Given the description of an element on the screen output the (x, y) to click on. 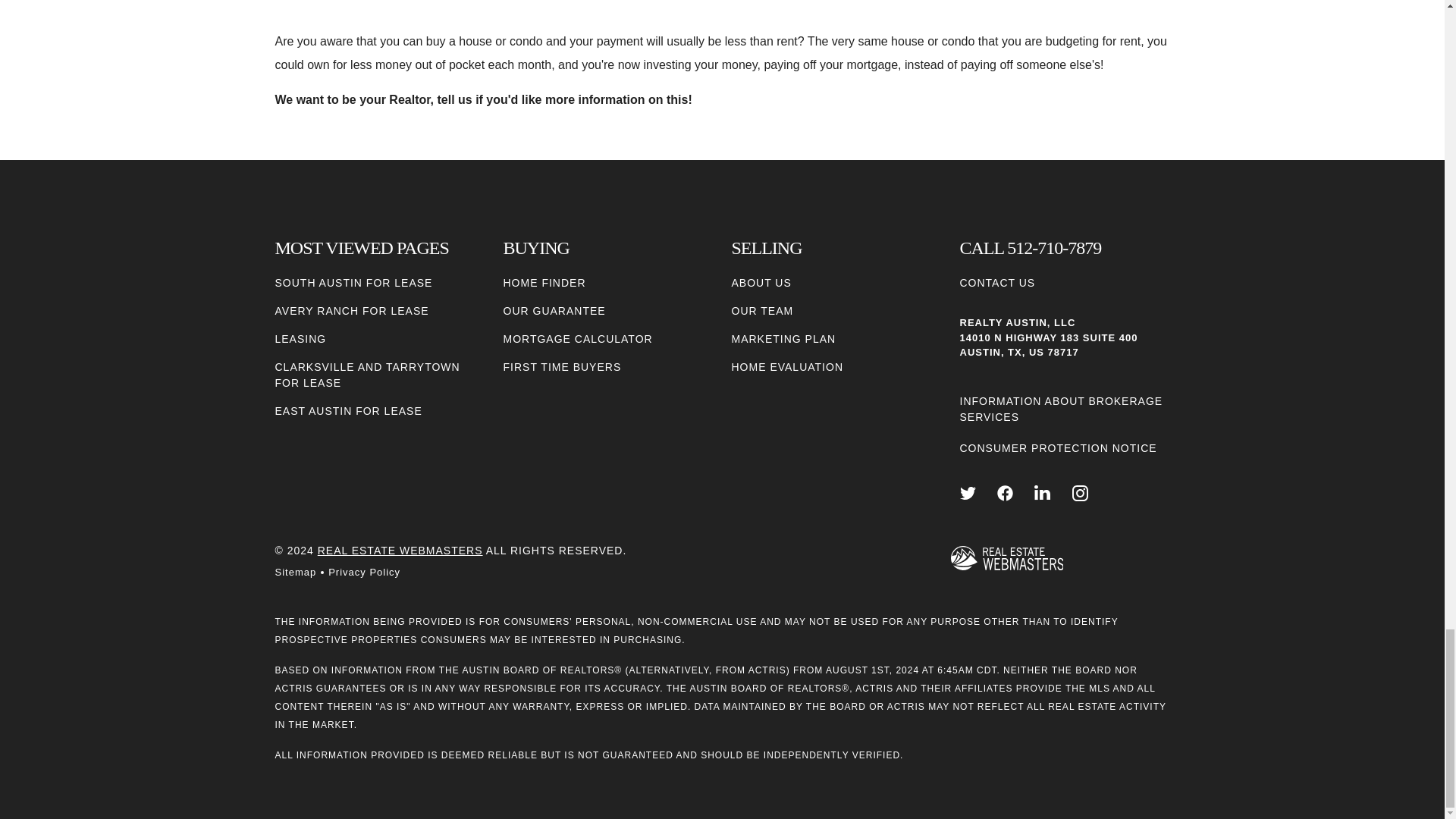
TWITTER (967, 493)
LINKEDIN (1041, 493)
FACEBOOK (1005, 493)
